Given the description of an element on the screen output the (x, y) to click on. 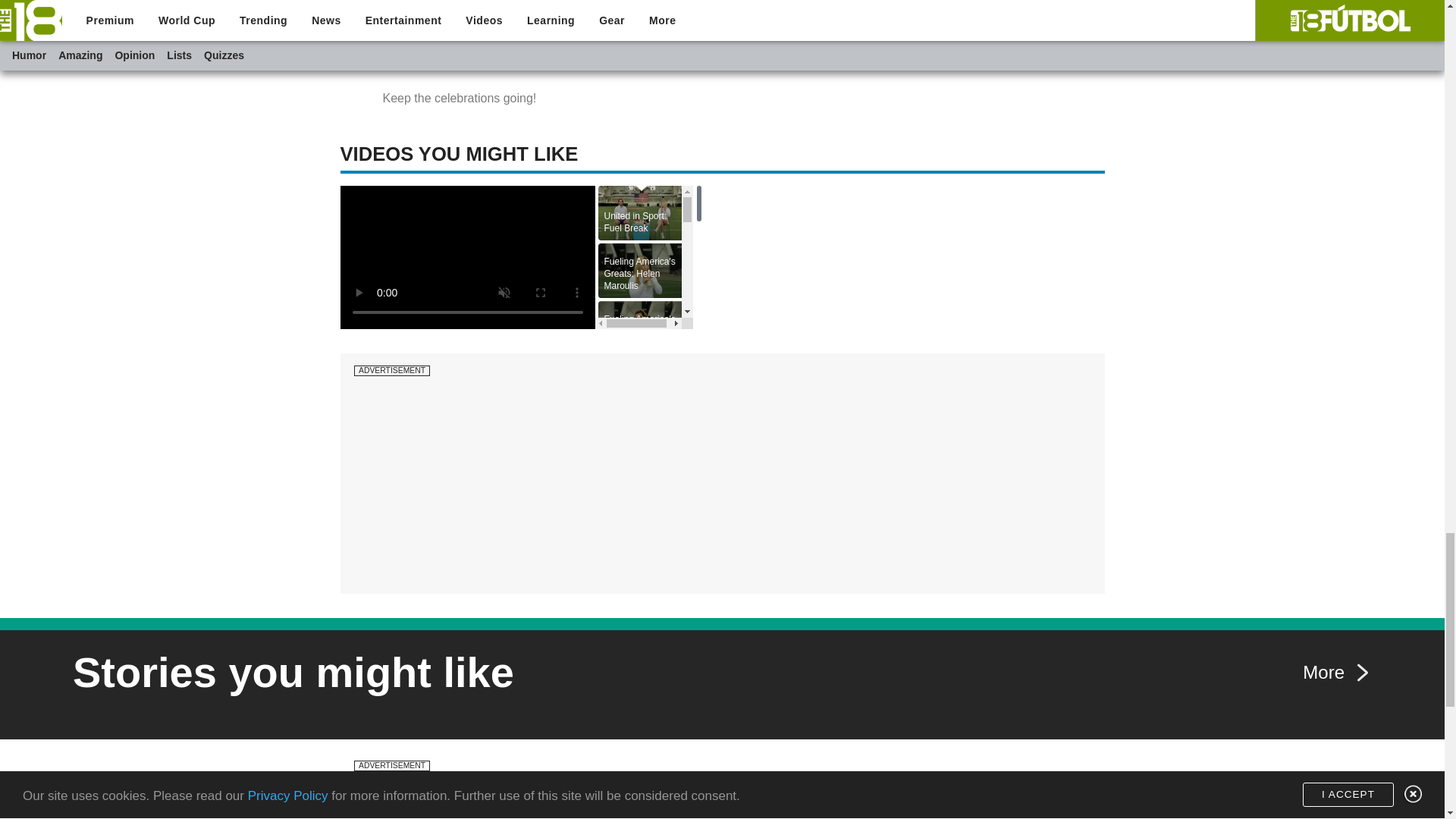
3rd party ad content (721, 796)
